Given the description of an element on the screen output the (x, y) to click on. 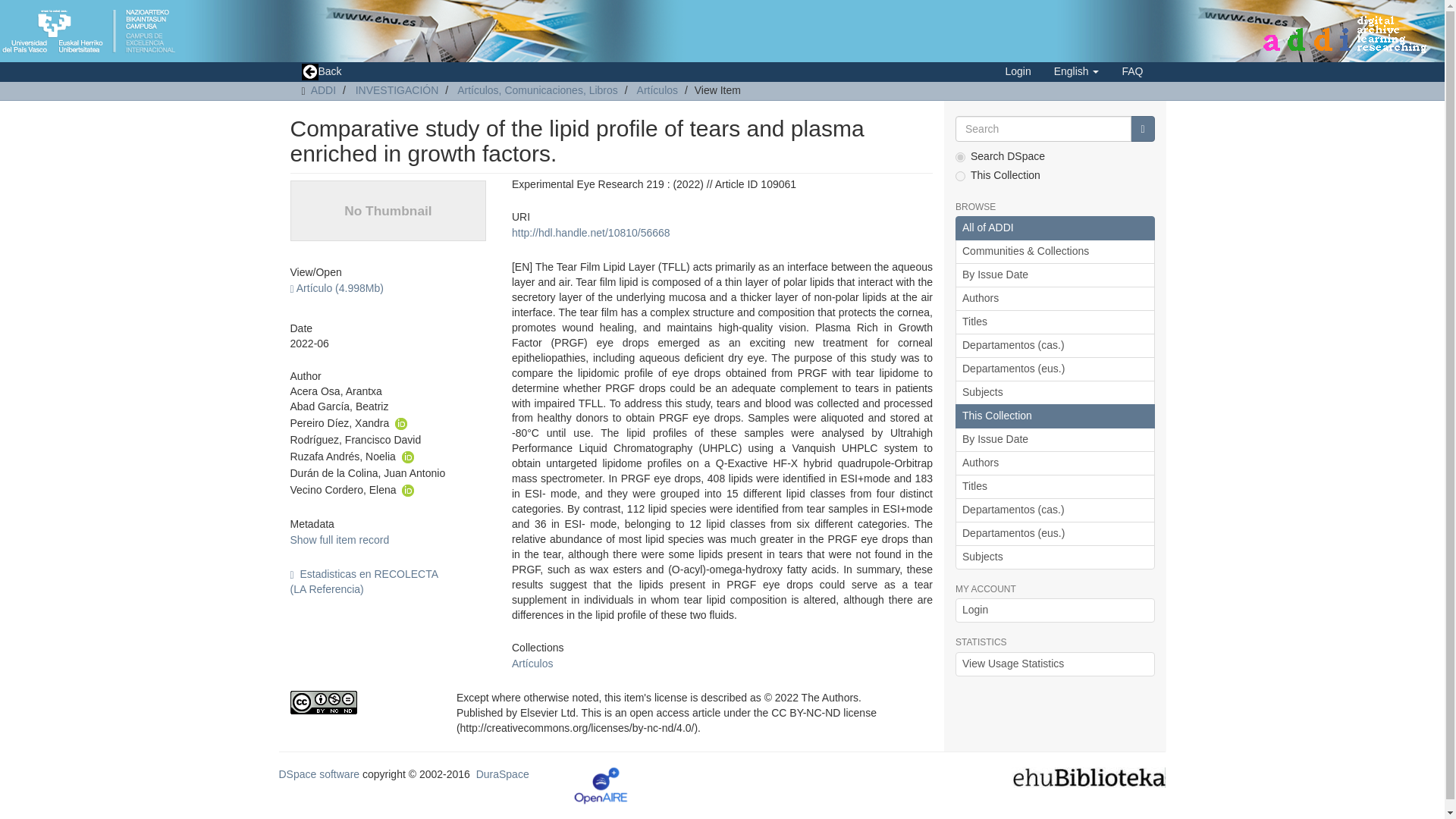
Go (1142, 128)
OpenAIRE (600, 784)
Login (1017, 71)
English  (1076, 71)
ADDI (323, 90)
FAQ (1131, 71)
EHU Biblioteka (1088, 776)
Show full item record (338, 539)
Back (320, 71)
